Given the description of an element on the screen output the (x, y) to click on. 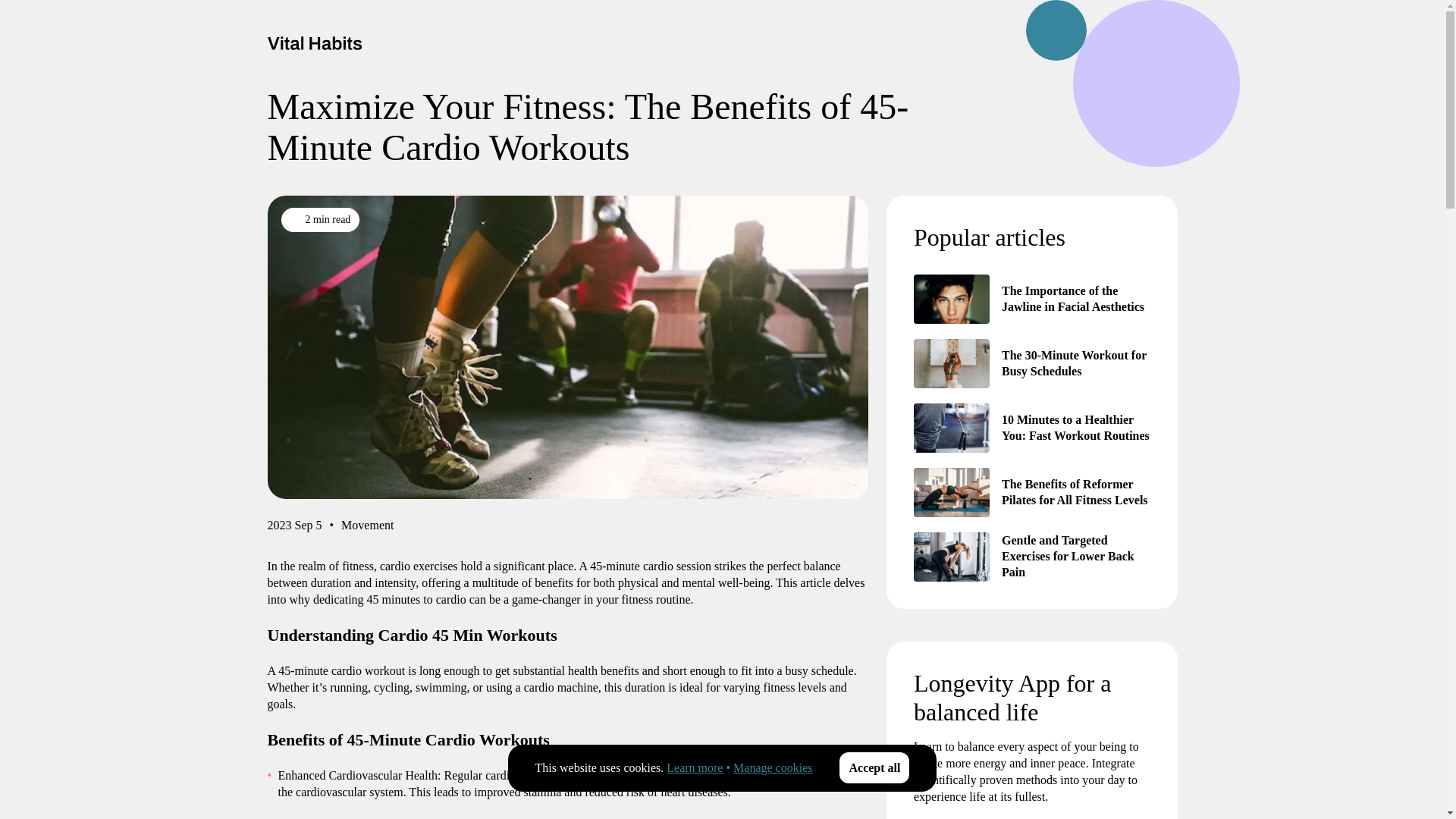
10 Minutes to a Healthier You: Fast Workout Routines (950, 427)
The 30-Minute Workout for Busy Schedules (950, 363)
Movement (366, 527)
The Benefits of Reformer Pilates for All Fitness Levels (950, 491)
The Importance of the Jawline in Facial Aesthetics (950, 298)
Gentle and Targeted Exercises for Lower Back Pain (950, 556)
Learn more (694, 767)
